Given the description of an element on the screen output the (x, y) to click on. 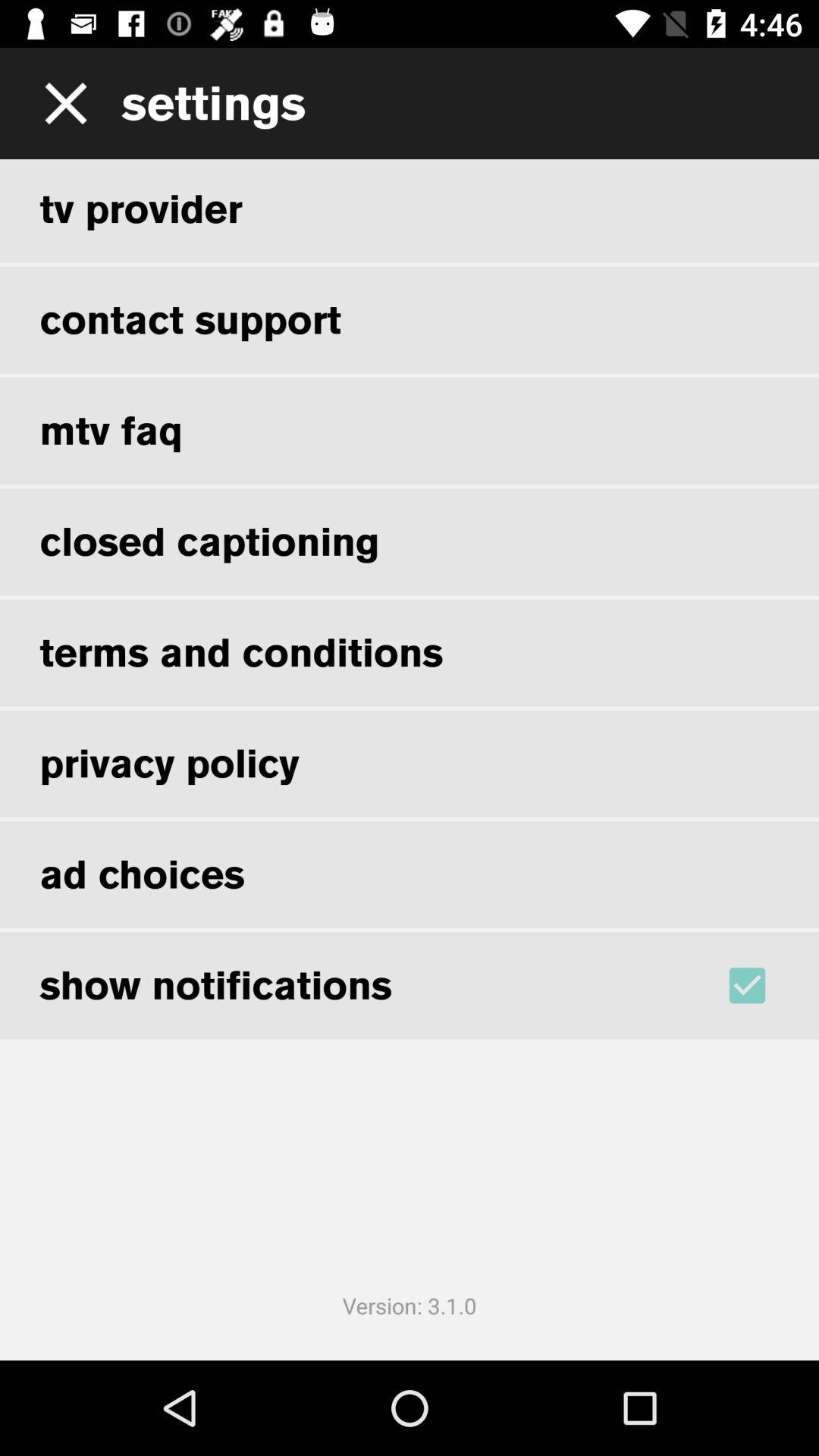
choose the item below the ad choices (767, 985)
